Given the description of an element on the screen output the (x, y) to click on. 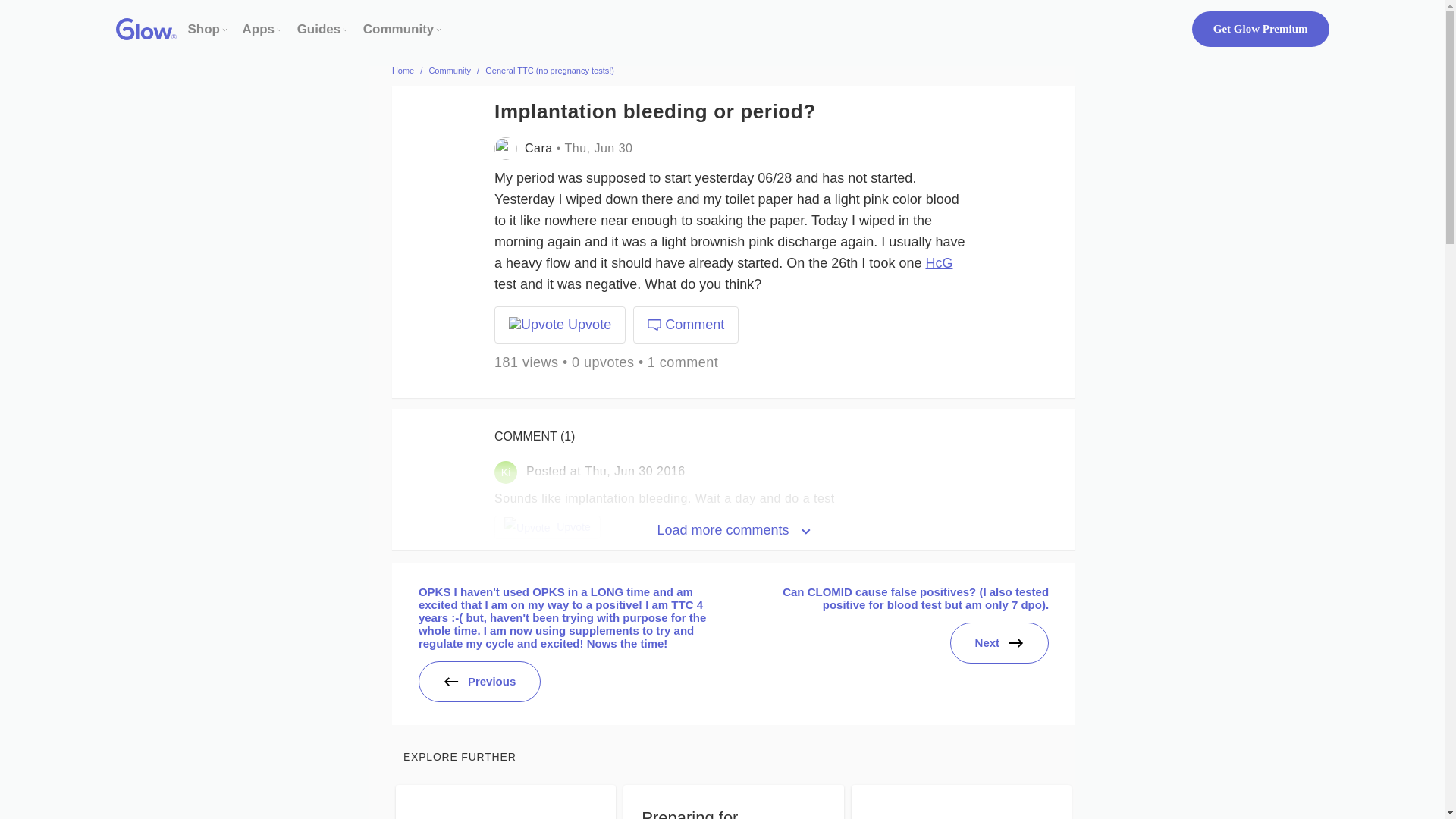
Guides (318, 28)
Shop (204, 28)
Glow Shop (204, 28)
Glow Community (397, 28)
Apps (259, 28)
Community (397, 28)
